Given the description of an element on the screen output the (x, y) to click on. 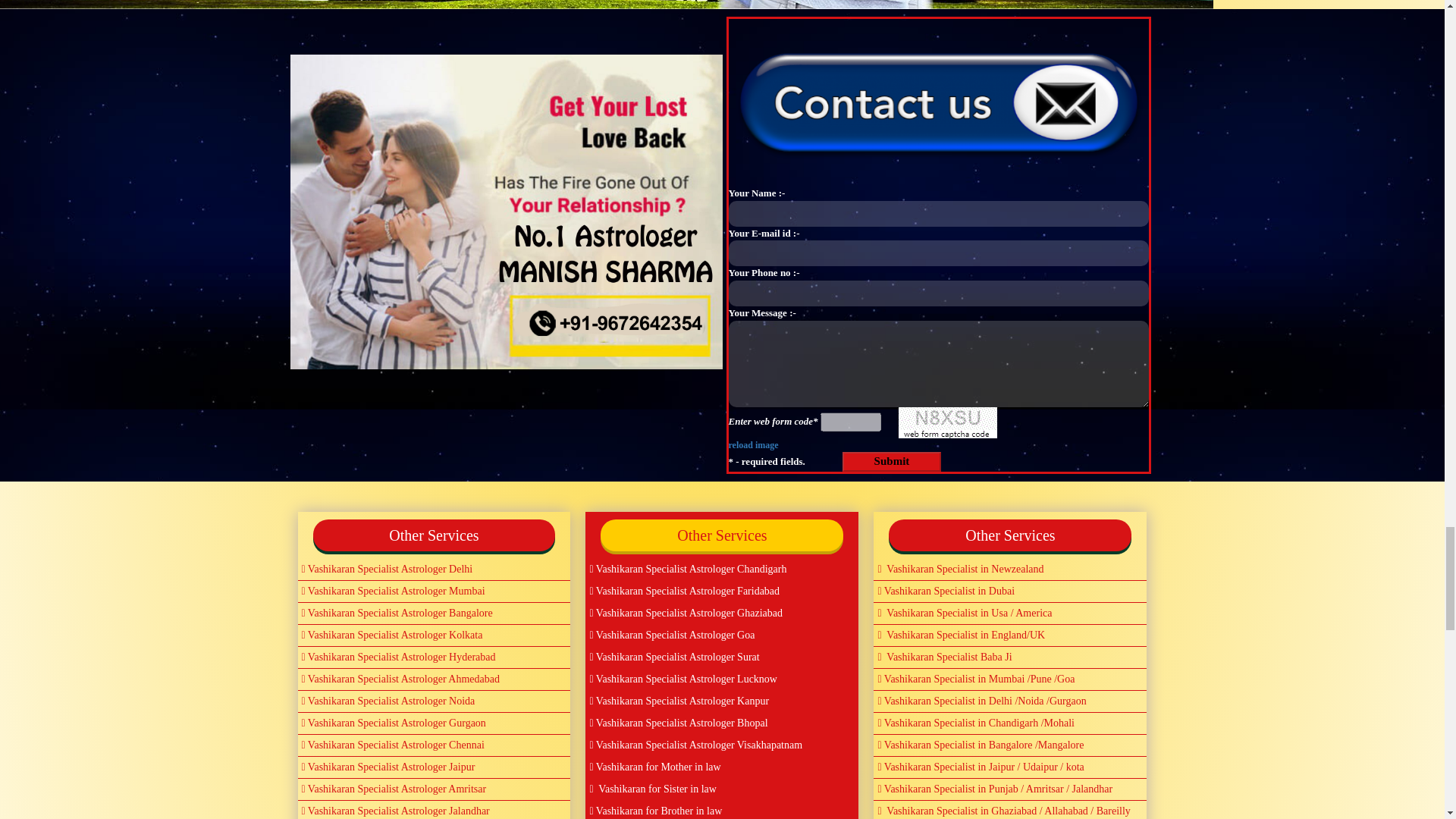
 Vashikaran Specialist Astrologer Noida (433, 700)
 Vashikaran Specialist Astrologer Gurgaon (433, 723)
 Vashikaran Specialist Astrologer Delhi (433, 568)
 Vashikaran Specialist Astrologer Jaipur (433, 767)
Submit (892, 461)
Submit (892, 461)
 Vashikaran Specialist Astrologer Bangalore (433, 612)
reload image (752, 444)
 Vashikaran Specialist Astrologer Amritsar (433, 789)
 Vashikaran Specialist Astrologer Kolkata (433, 635)
 Vashikaran Specialist Astrologer Jalandhar (433, 809)
 Vashikaran Specialist Astrologer Hyderabad (433, 657)
 Vashikaran Specialist Astrologer Chennai (433, 744)
 Vashikaran Specialist Astrologer Ahmedabad (433, 680)
 Vashikaran Specialist Astrologer Mumbai (433, 591)
